Given the description of an element on the screen output the (x, y) to click on. 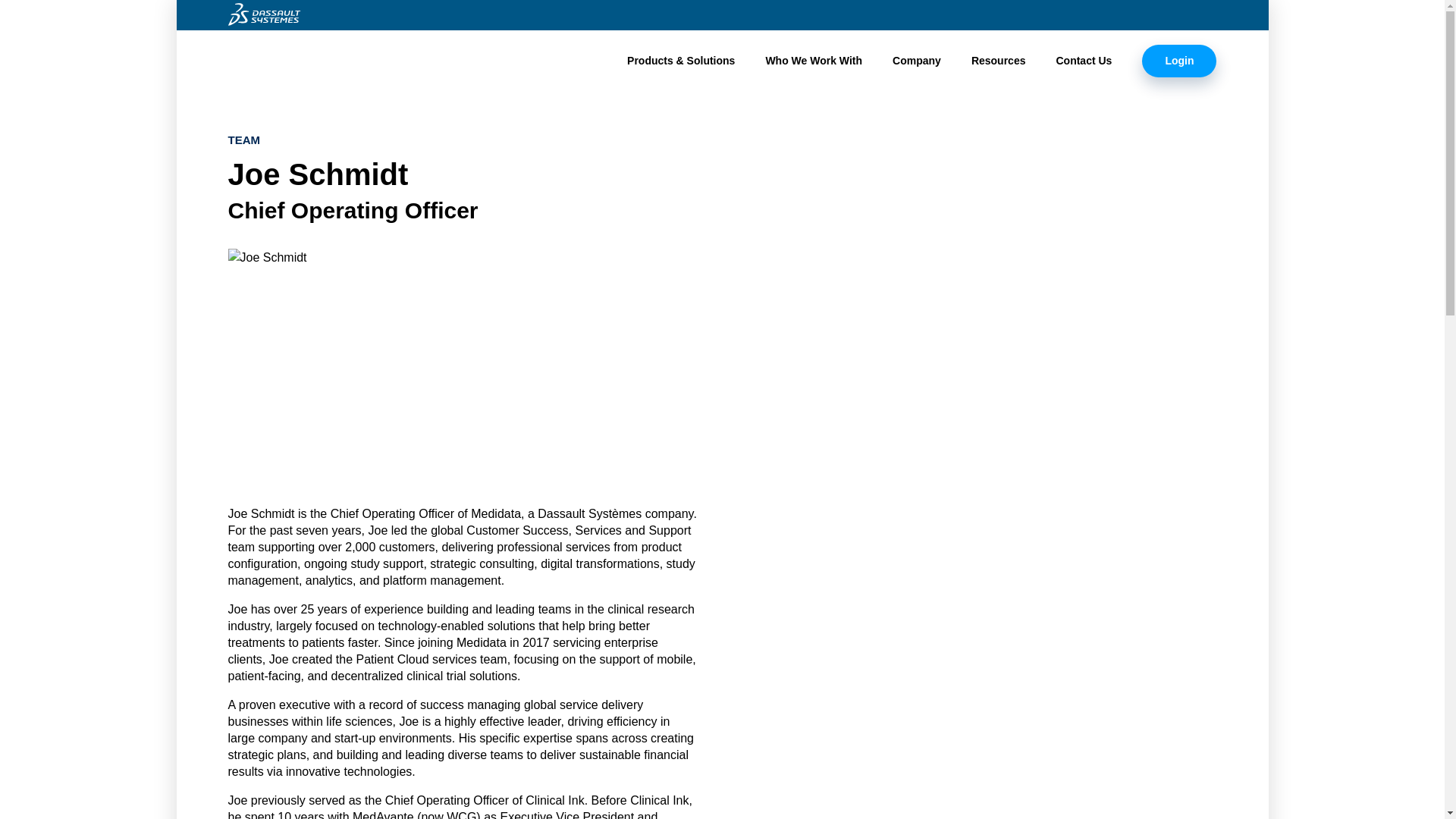
Medidata (291, 57)
Medidata (291, 57)
